Given the description of an element on the screen output the (x, y) to click on. 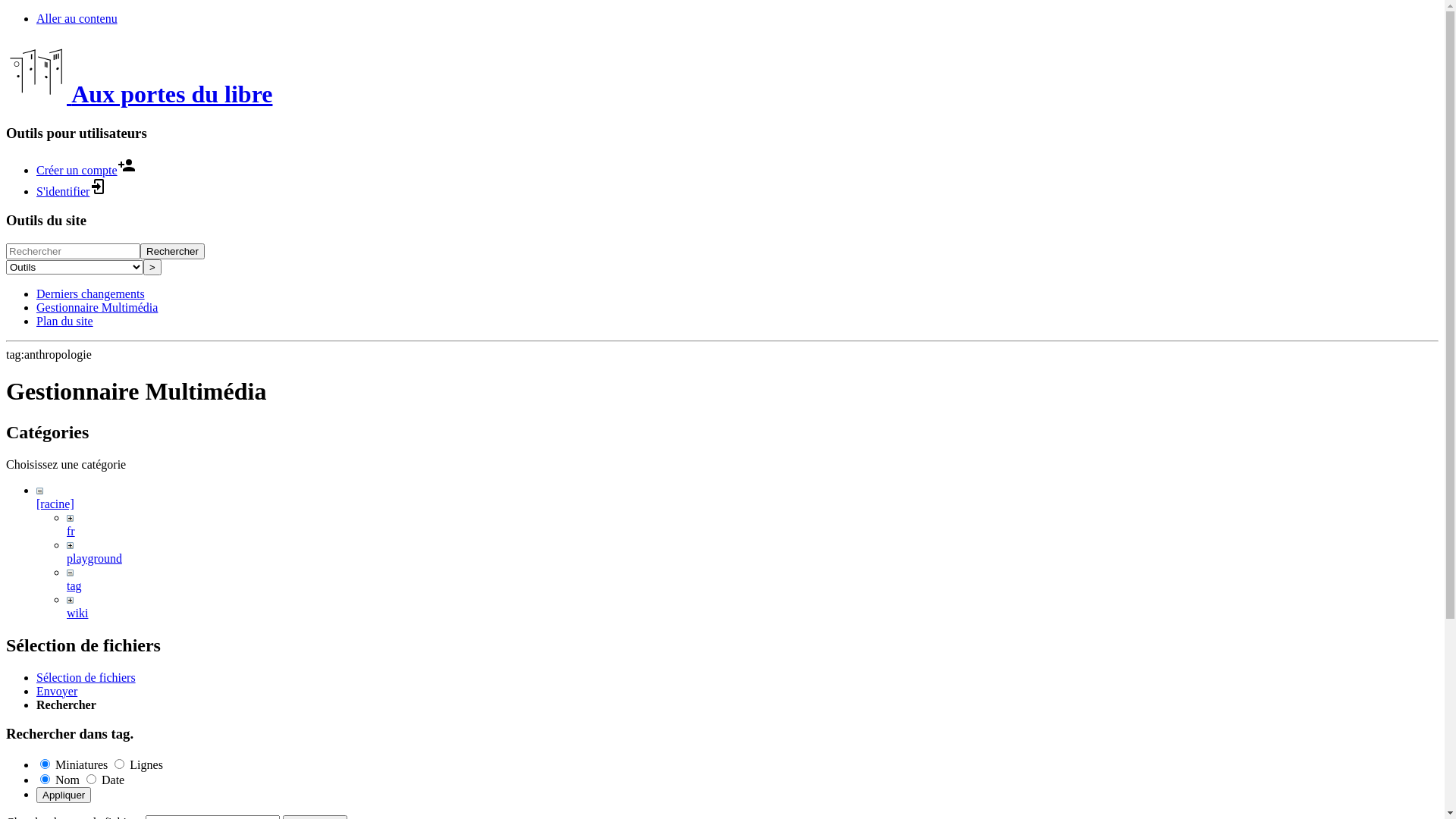
Derniers changements Element type: text (90, 293)
tag Element type: text (73, 585)
[racine] Element type: text (55, 503)
Aux portes du libre Element type: text (139, 93)
Rechercher Element type: text (172, 251)
[F] Element type: hover (73, 251)
fr Element type: text (70, 530)
Appliquer Element type: text (63, 795)
Aller au contenu Element type: text (76, 18)
S'identifier Element type: text (71, 191)
Envoyer Element type: text (56, 690)
playground Element type: text (94, 558)
Plan du site Element type: text (64, 320)
wiki Element type: text (76, 612)
> Element type: text (152, 267)
